Given the description of an element on the screen output the (x, y) to click on. 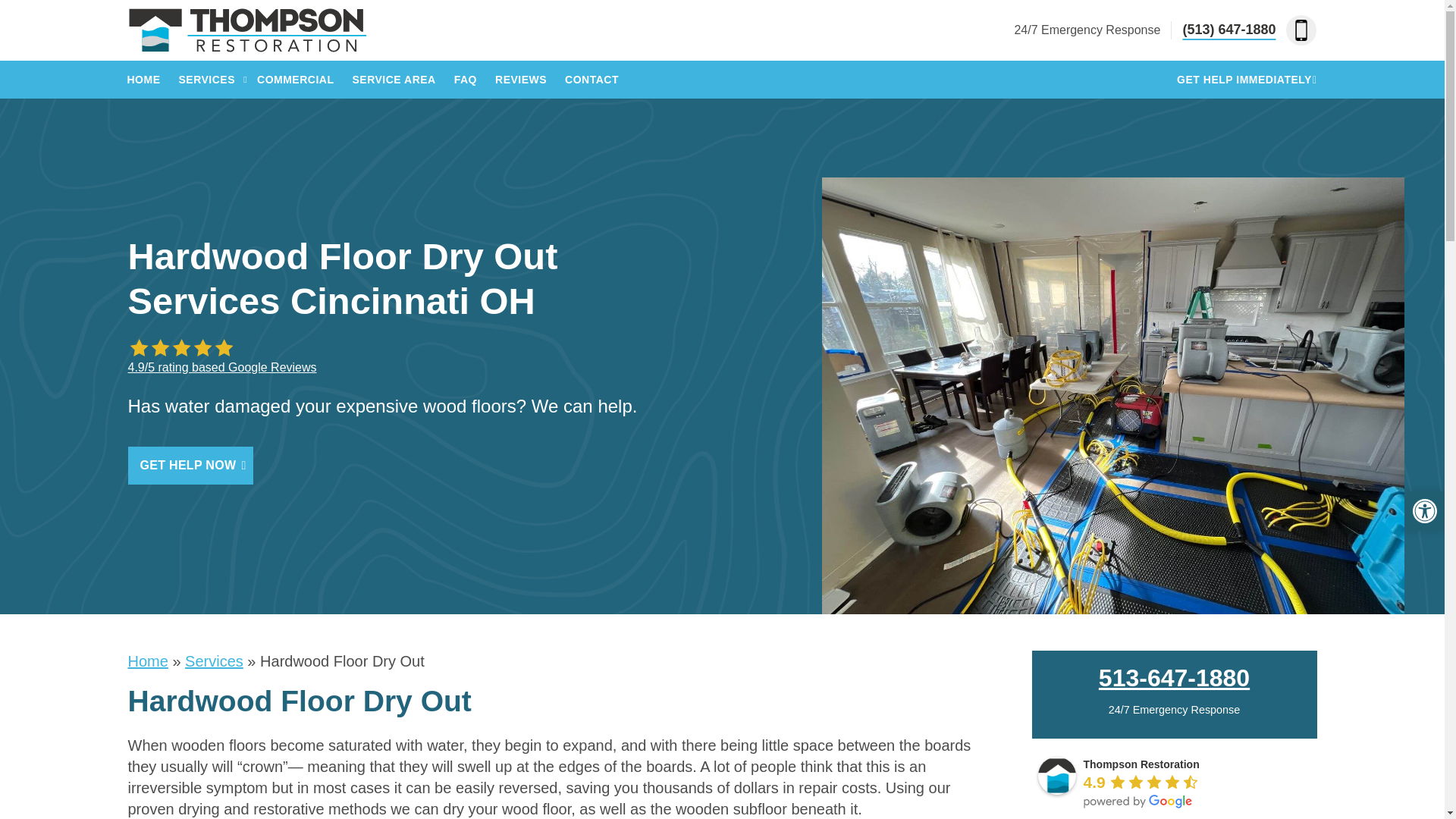
SERVICES (206, 79)
Thompson Restoration (1055, 775)
Accessibility Tools (1424, 510)
HOME (143, 79)
powered by Google (1137, 801)
